Given the description of an element on the screen output the (x, y) to click on. 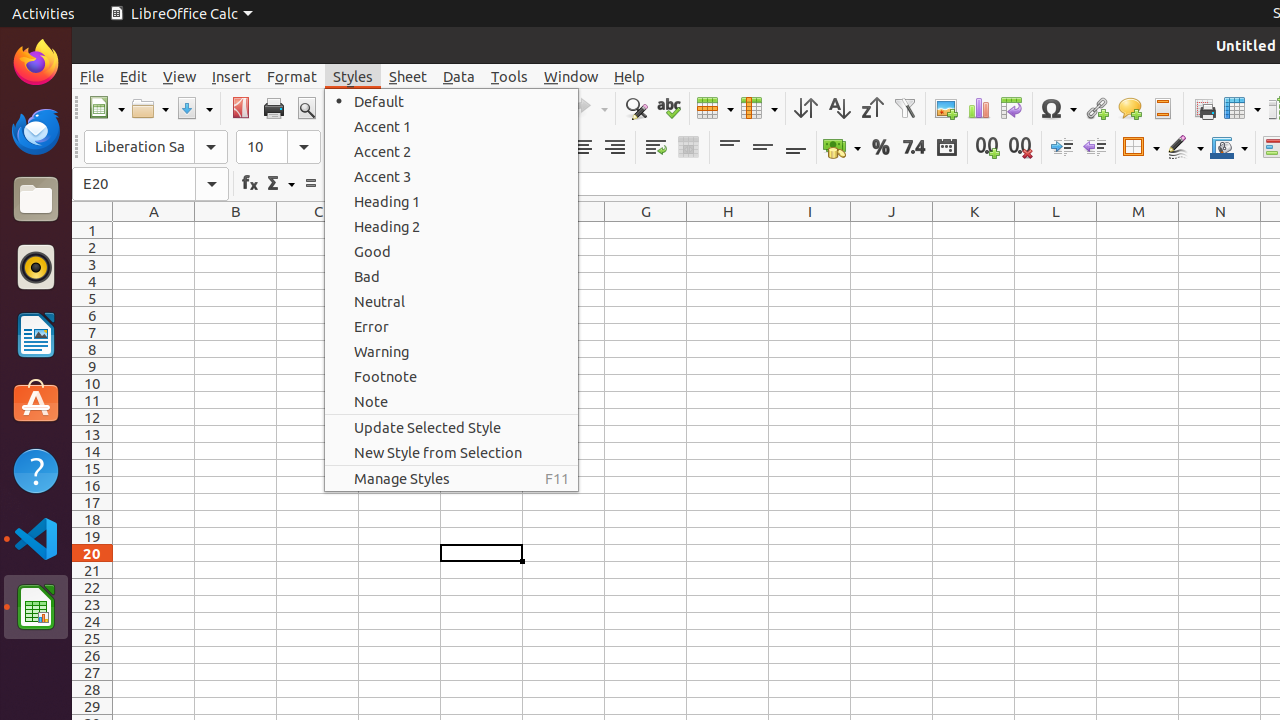
Accent 1 Element type: radio-menu-item (451, 126)
Currency Element type: push-button (842, 147)
Open Element type: push-button (150, 108)
Save Element type: push-button (194, 108)
Wrap Text Element type: push-button (655, 147)
